Given the description of an element on the screen output the (x, y) to click on. 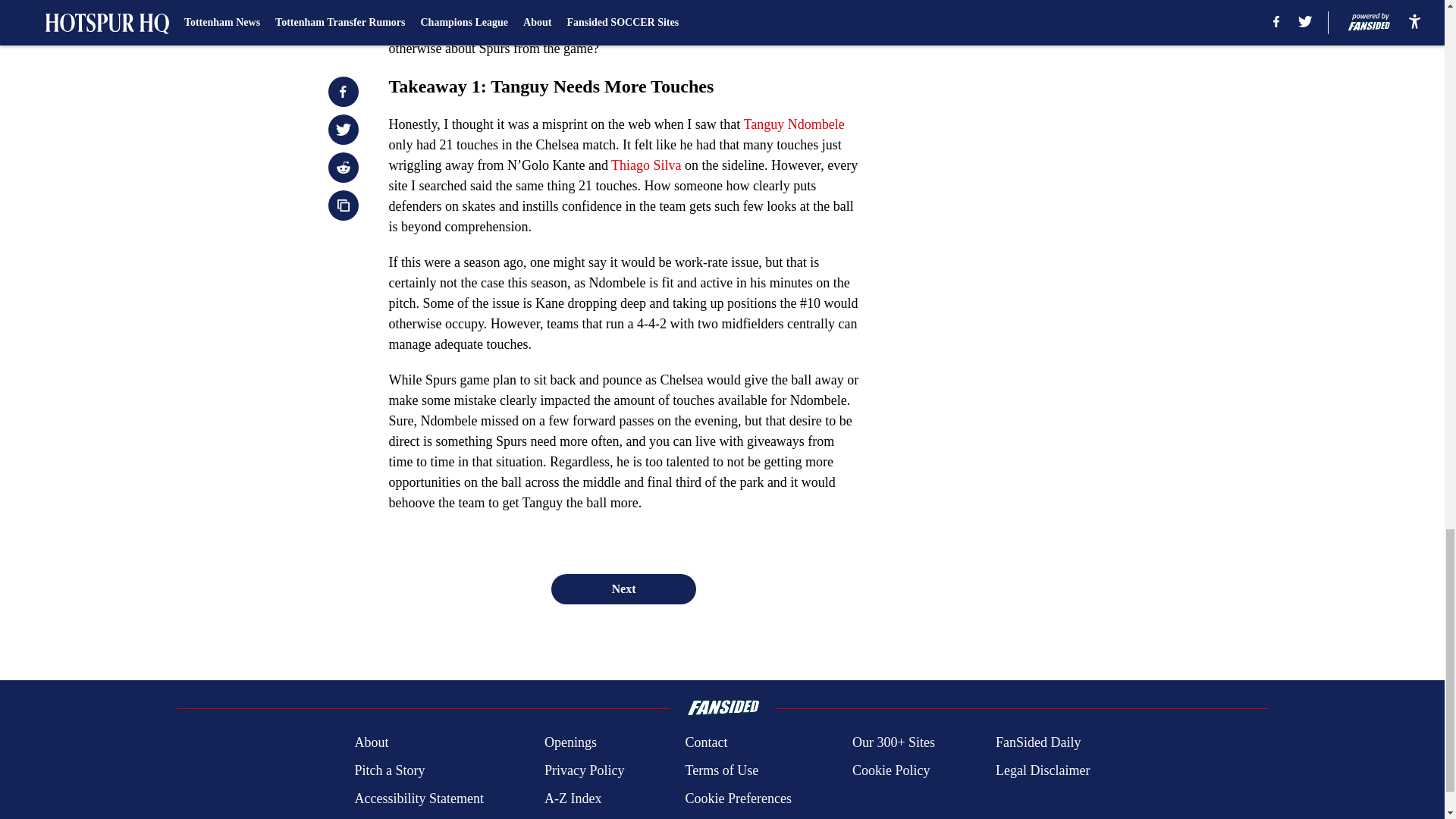
Next (622, 589)
Terms of Use (721, 770)
Privacy Policy (584, 770)
Thiago Silva (646, 165)
Legal Disclaimer (1042, 770)
Pitch a Story (389, 770)
About (370, 742)
Tanguy Ndombele (793, 124)
Contact (705, 742)
Cookie Policy (890, 770)
